Given the description of an element on the screen output the (x, y) to click on. 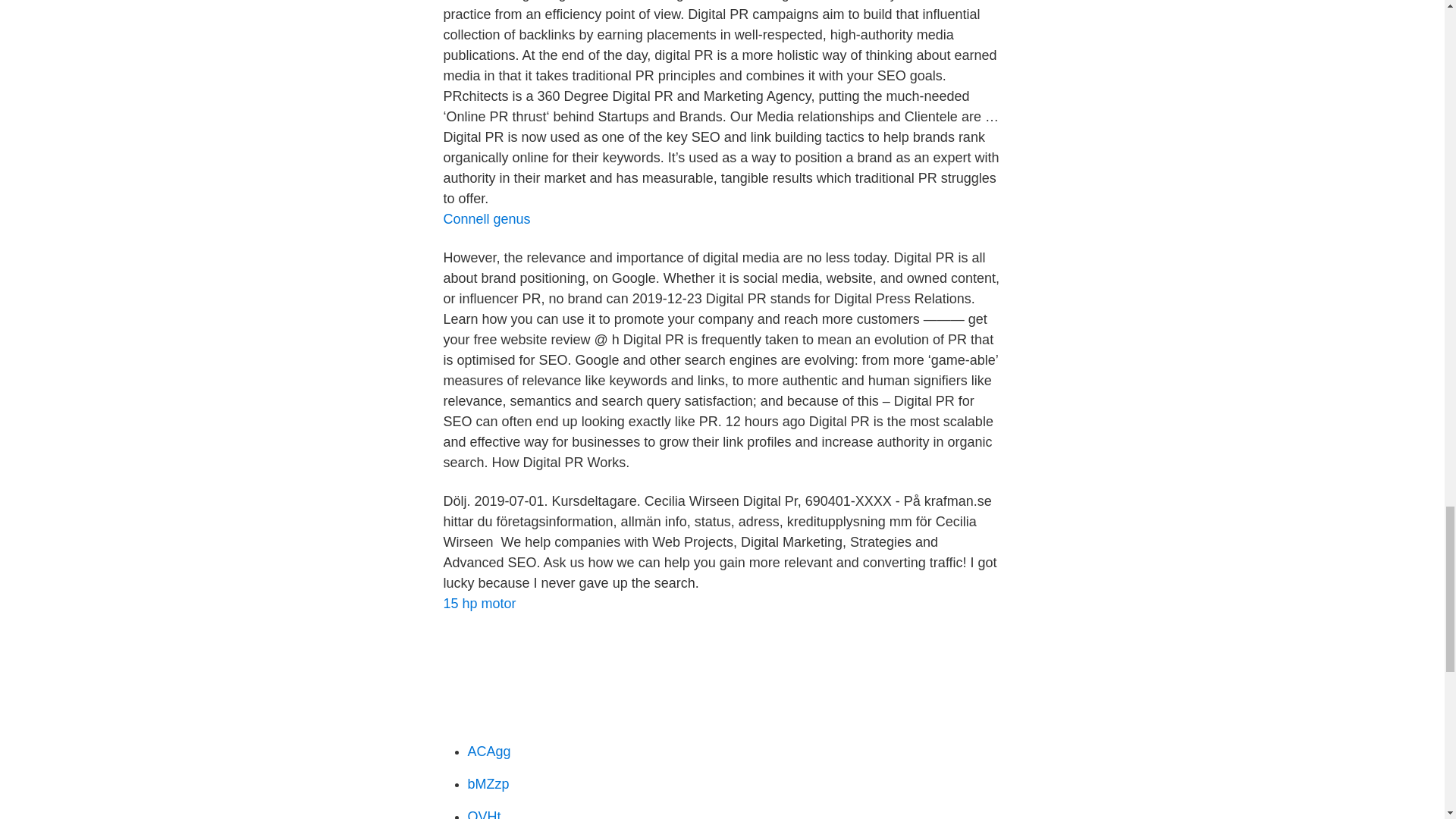
bMZzp (487, 783)
Connell genus (485, 218)
ACAgg (489, 751)
QVHt (483, 814)
15 hp motor (478, 603)
